Given the description of an element on the screen output the (x, y) to click on. 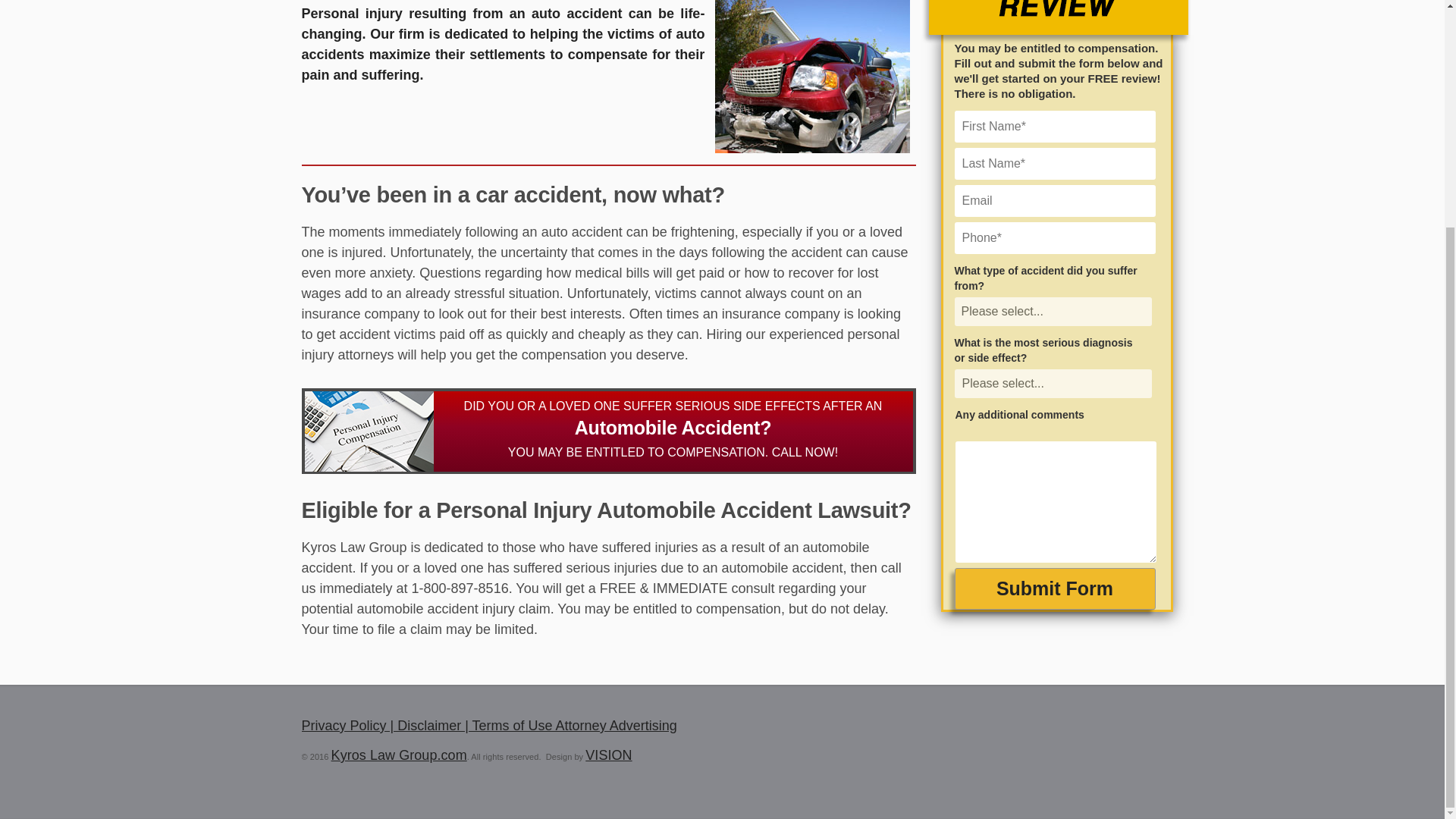
Submit Form (1053, 588)
